Given the description of an element on the screen output the (x, y) to click on. 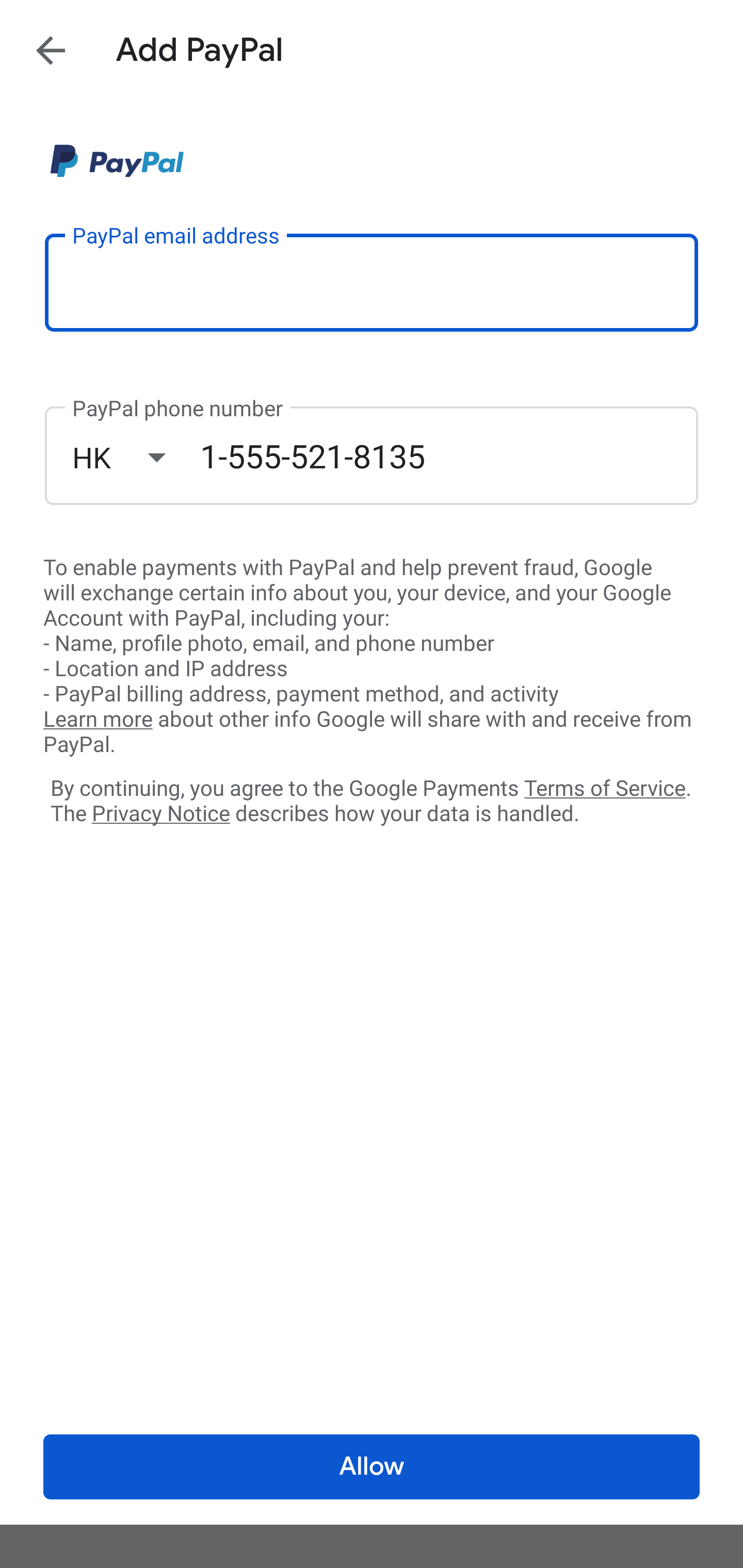
Navigate up (50, 50)
PayPal email address (371, 282)
HK (135, 456)
Learn more (97, 719)
Terms of Service (604, 787)
Privacy Notice (160, 814)
Allow (371, 1466)
